Given the description of an element on the screen output the (x, y) to click on. 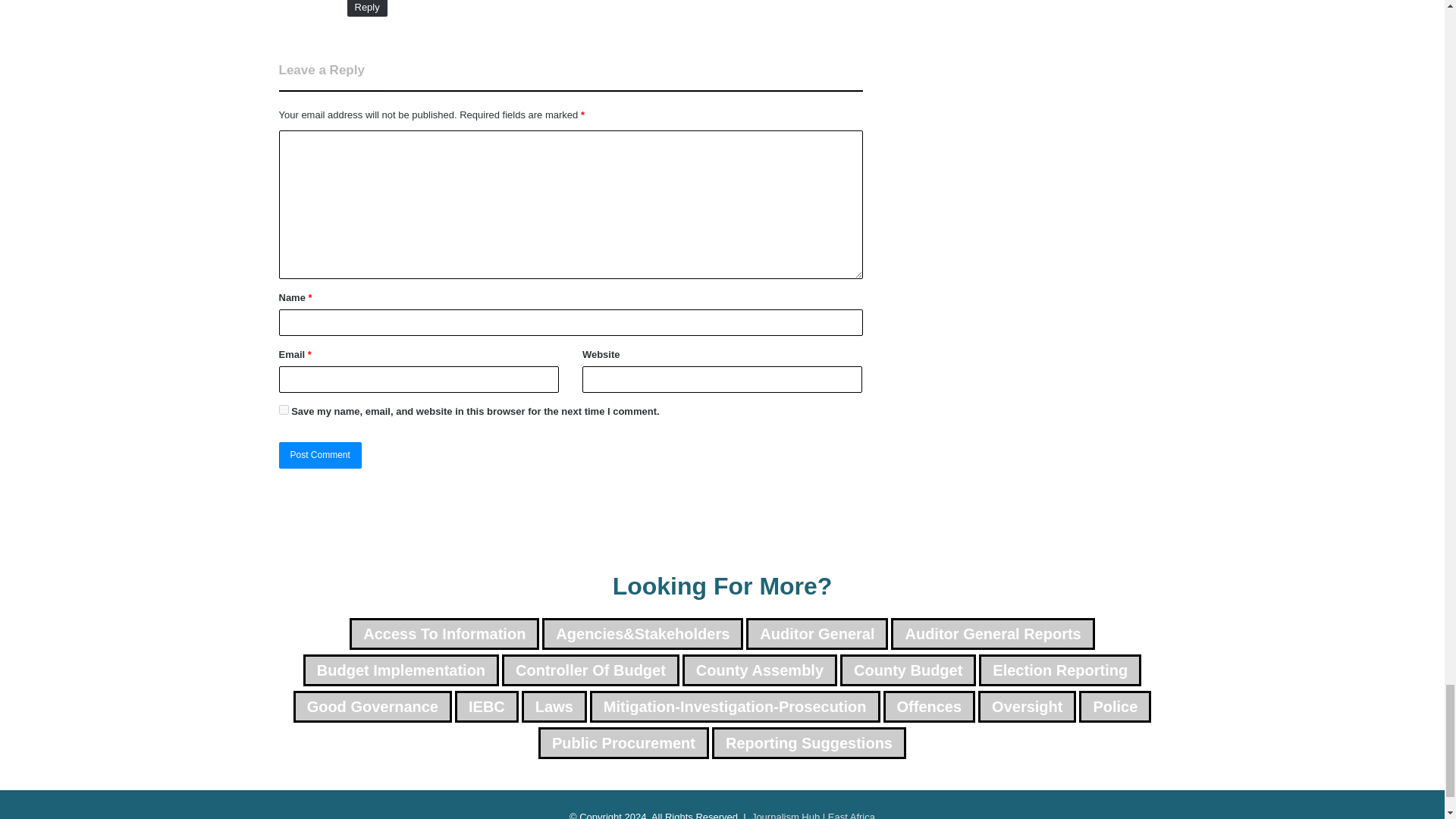
Post Comment (320, 455)
yes (283, 409)
